Given the description of an element on the screen output the (x, y) to click on. 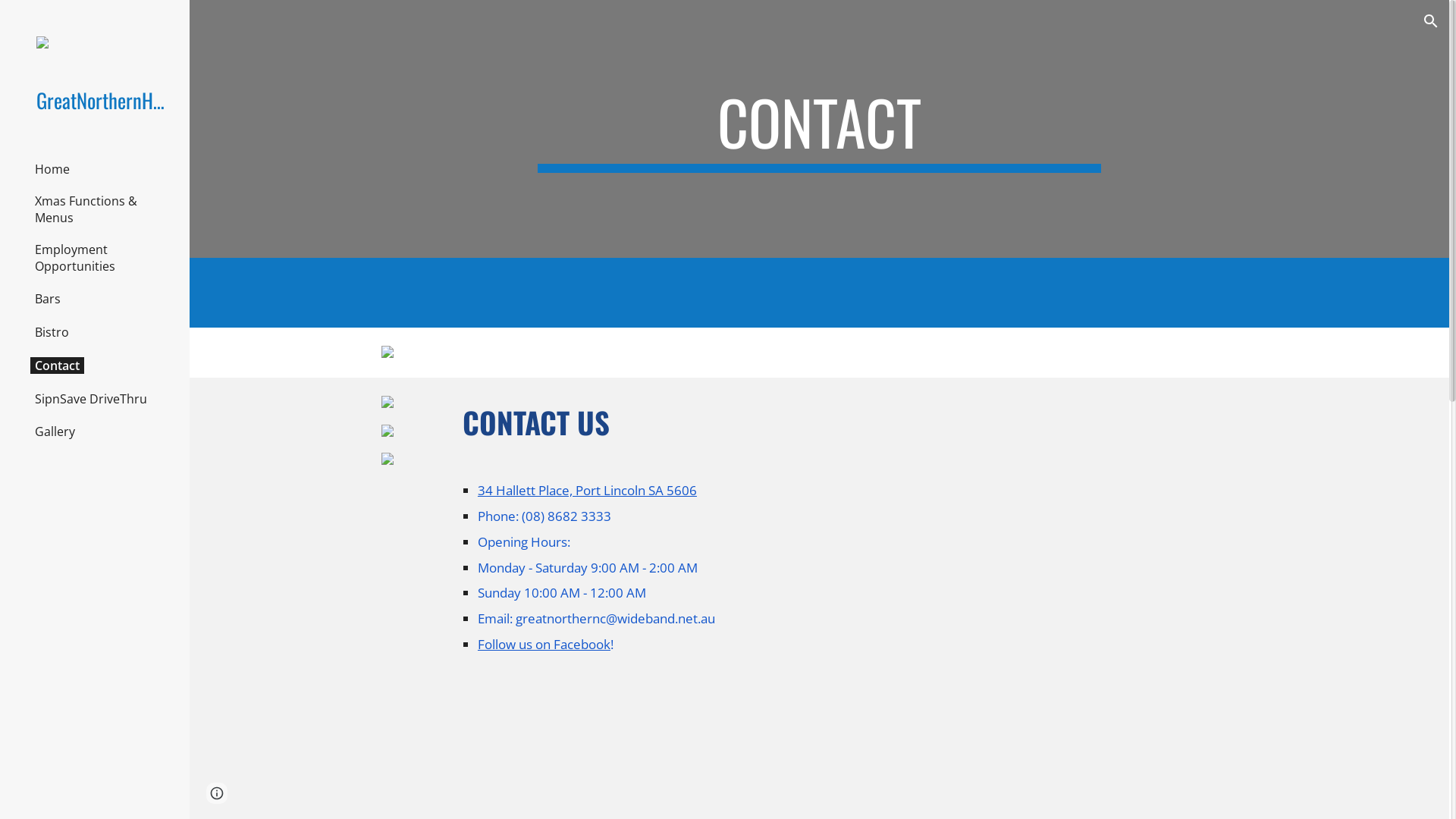
Bistro Element type: text (51, 331)
Contact Element type: text (57, 365)
GreatNorthernHotel Element type: text (100, 99)
34 Hallett Place, Port Lincoln SA 5606 Element type: text (586, 489)
SipnSave DriveThru Element type: text (90, 398)
Home Element type: text (52, 168)
Gallery Element type: text (54, 431)
Employment Opportunities Element type: text (101, 257)
Bars Element type: text (47, 298)
Xmas Functions & Menus Element type: text (101, 208)
Follow us on Facebook Element type: text (543, 643)
